Given the description of an element on the screen output the (x, y) to click on. 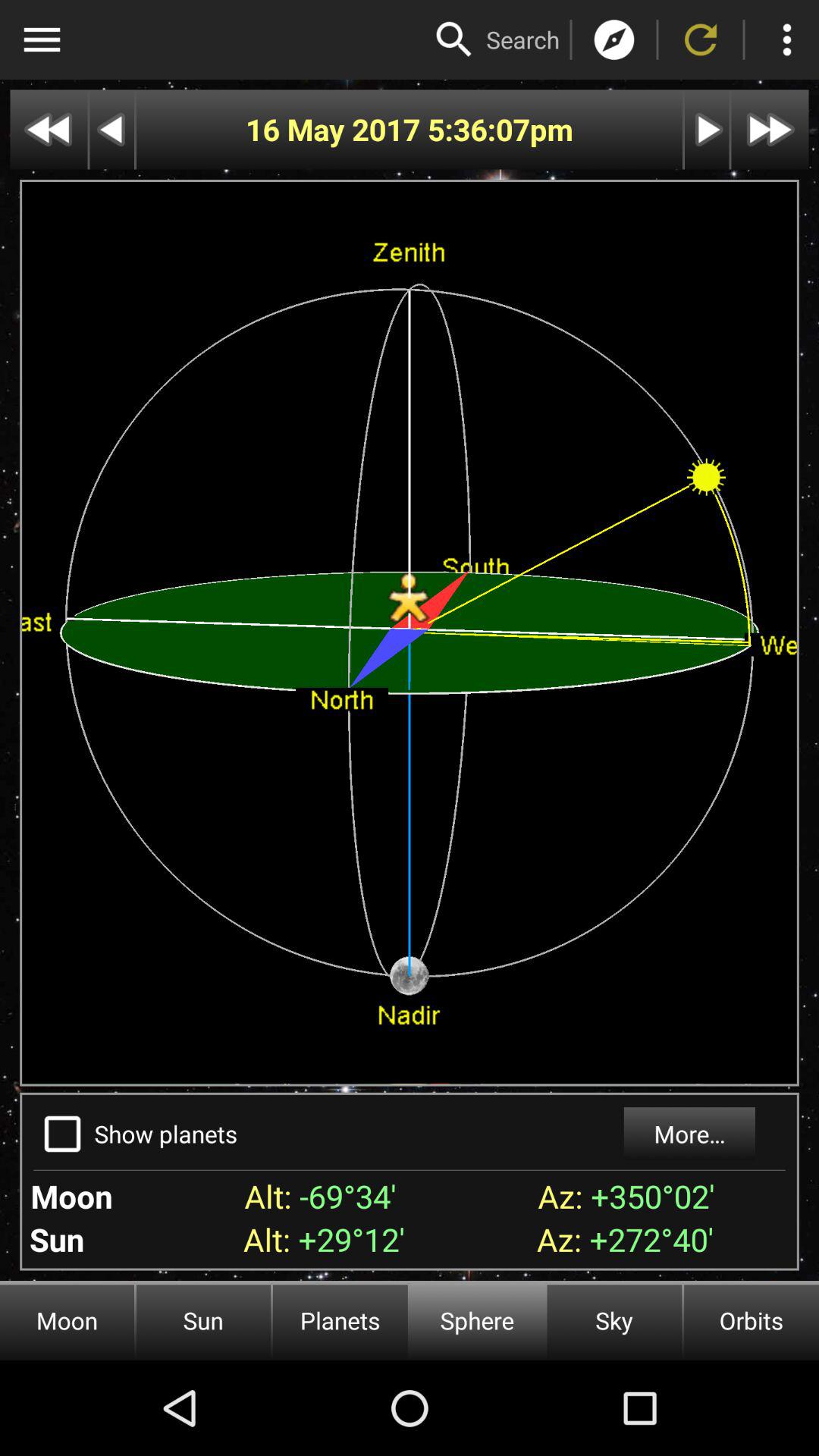
compass button to point at north (614, 39)
